Given the description of an element on the screen output the (x, y) to click on. 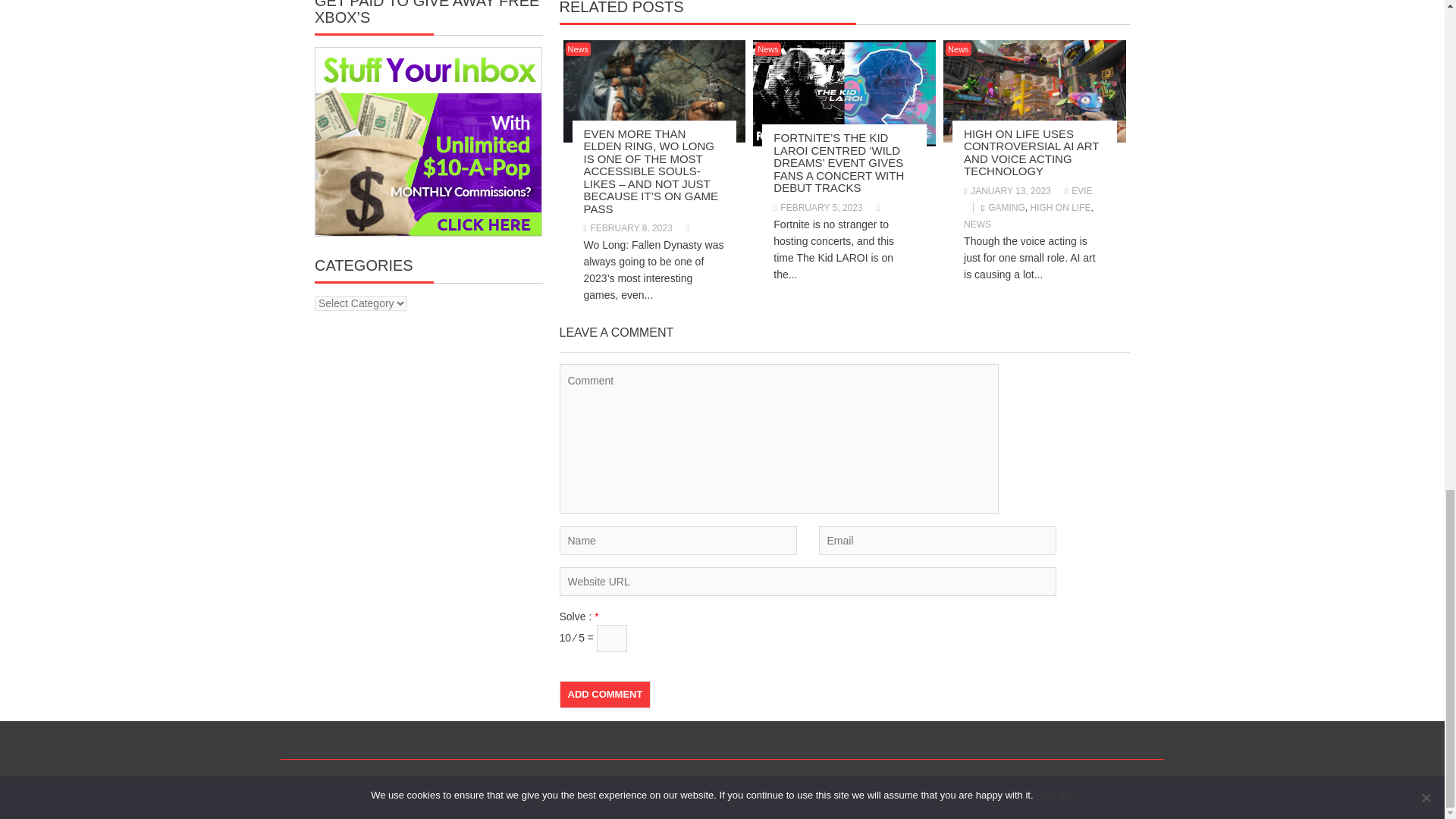
Add Comment (604, 694)
